Given the description of an element on the screen output the (x, y) to click on. 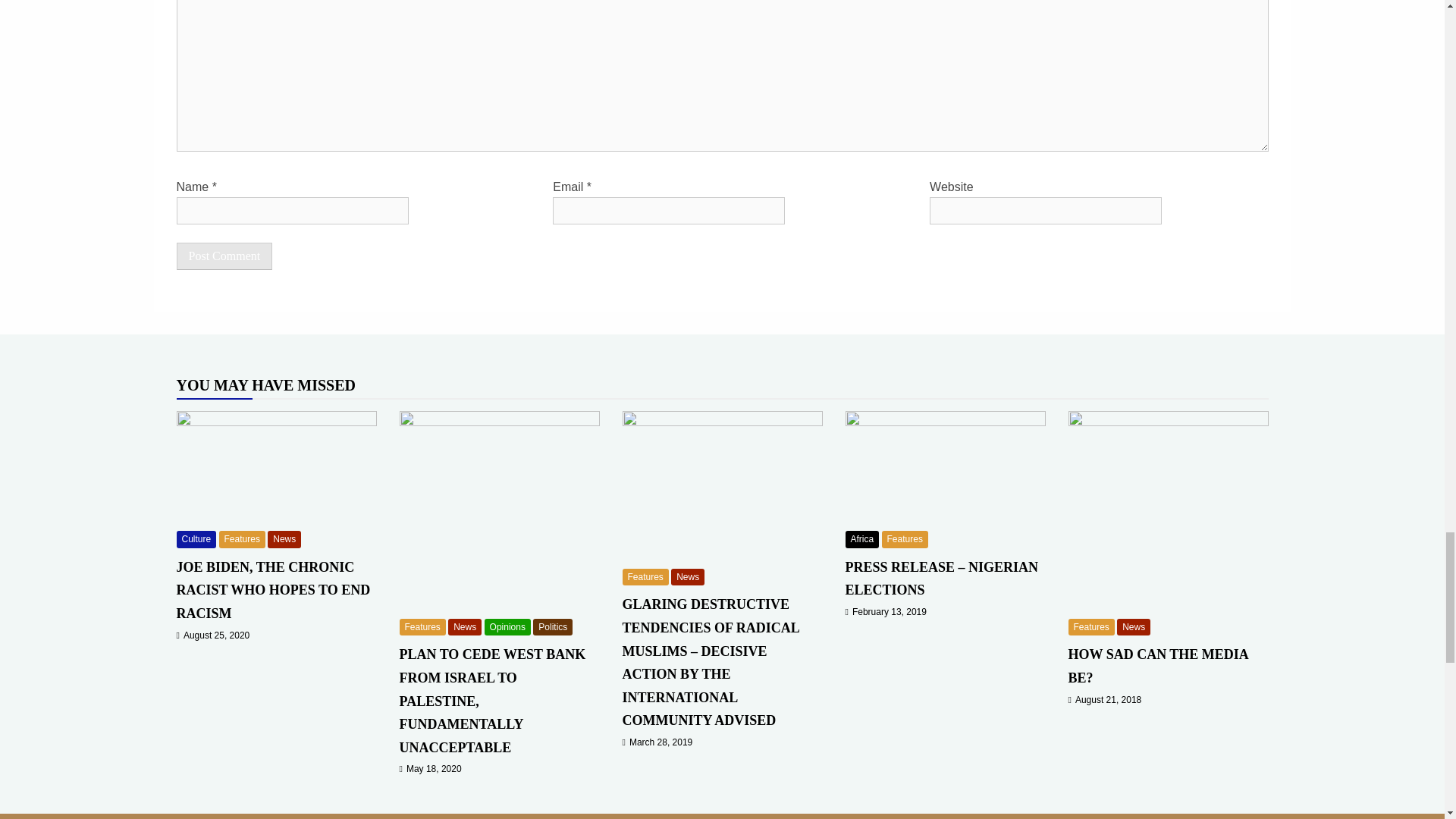
Post Comment (224, 256)
